Given the description of an element on the screen output the (x, y) to click on. 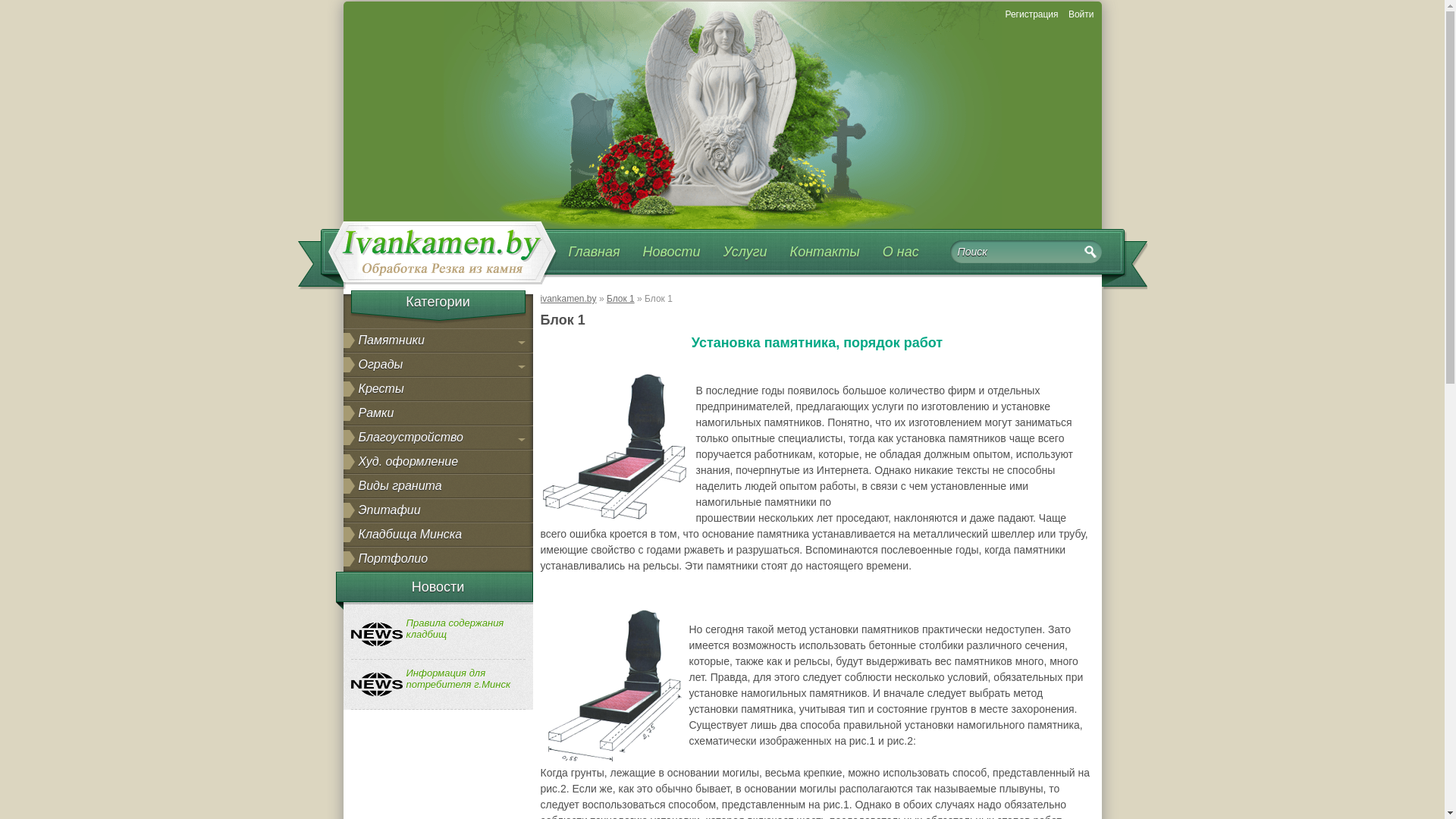
ivankamen.by Element type: text (567, 298)
